Given the description of an element on the screen output the (x, y) to click on. 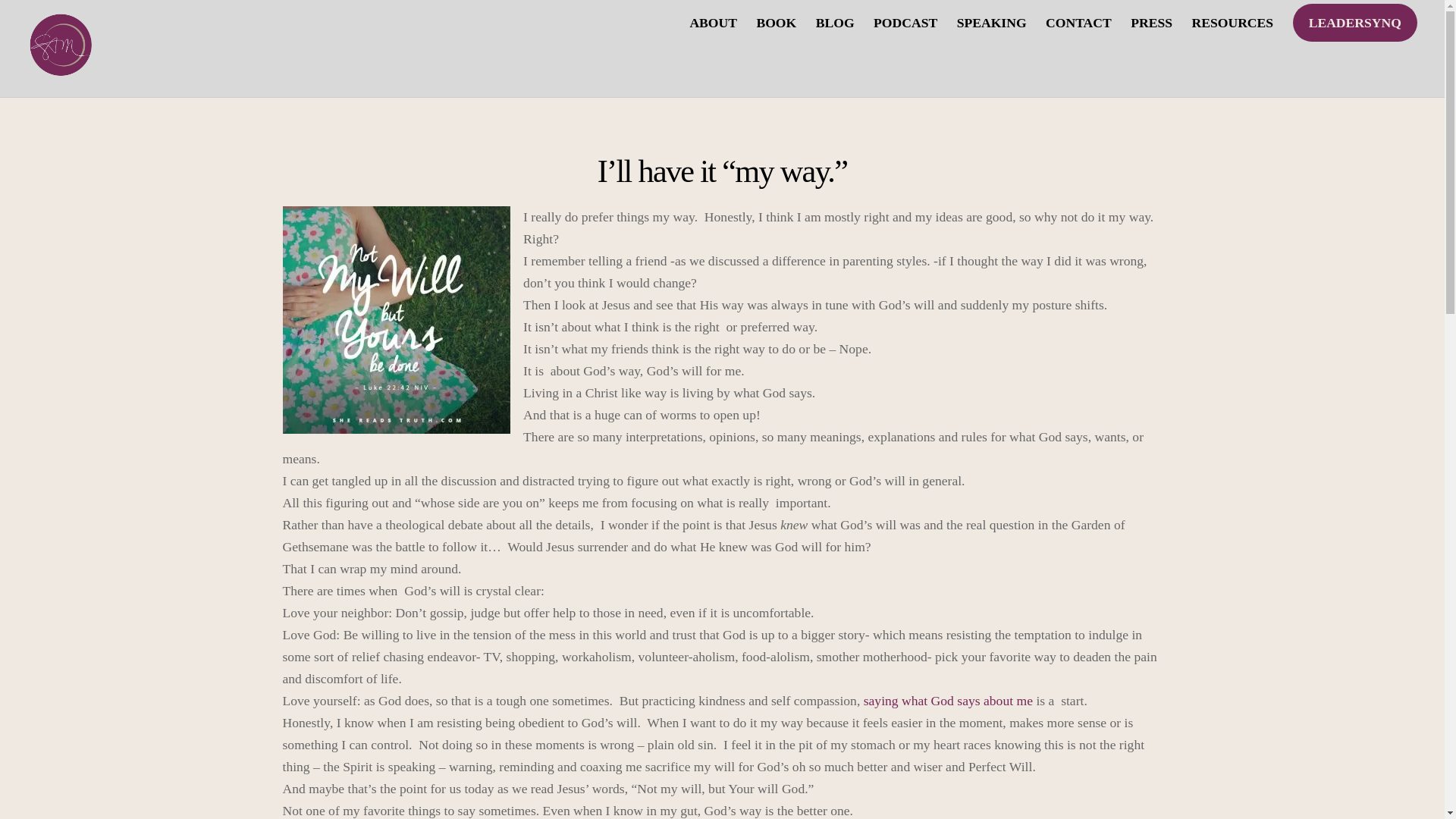
PRESS (1151, 22)
BOOK (776, 22)
PODCAST (905, 22)
ABOUT (713, 22)
saying what God says about me (947, 700)
SPEAKING (991, 22)
LEADERSYNQ (1354, 22)
RESOURCES (1232, 22)
CONTACT (1078, 22)
